Given the description of an element on the screen output the (x, y) to click on. 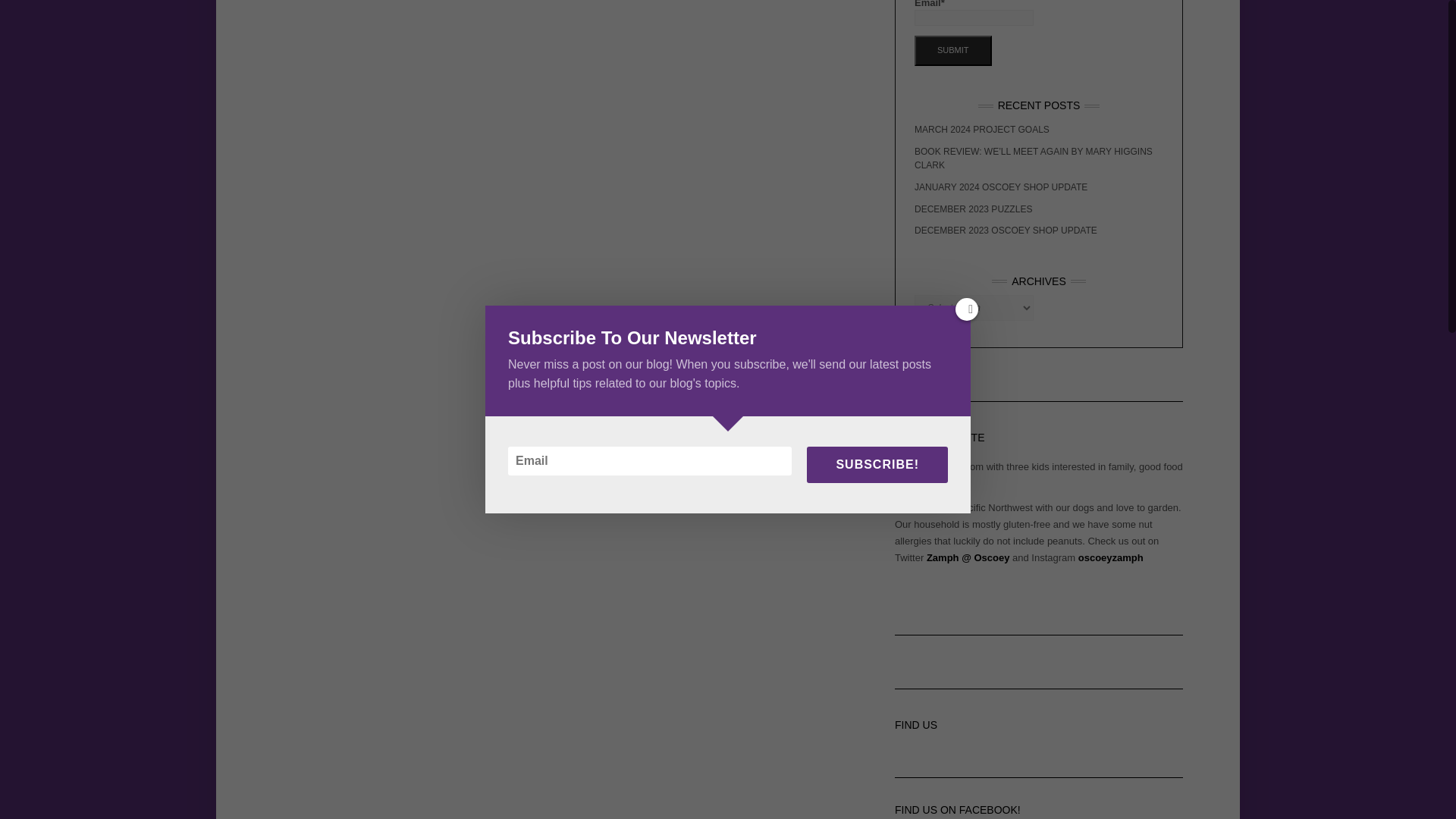
Submit (952, 51)
